Given the description of an element on the screen output the (x, y) to click on. 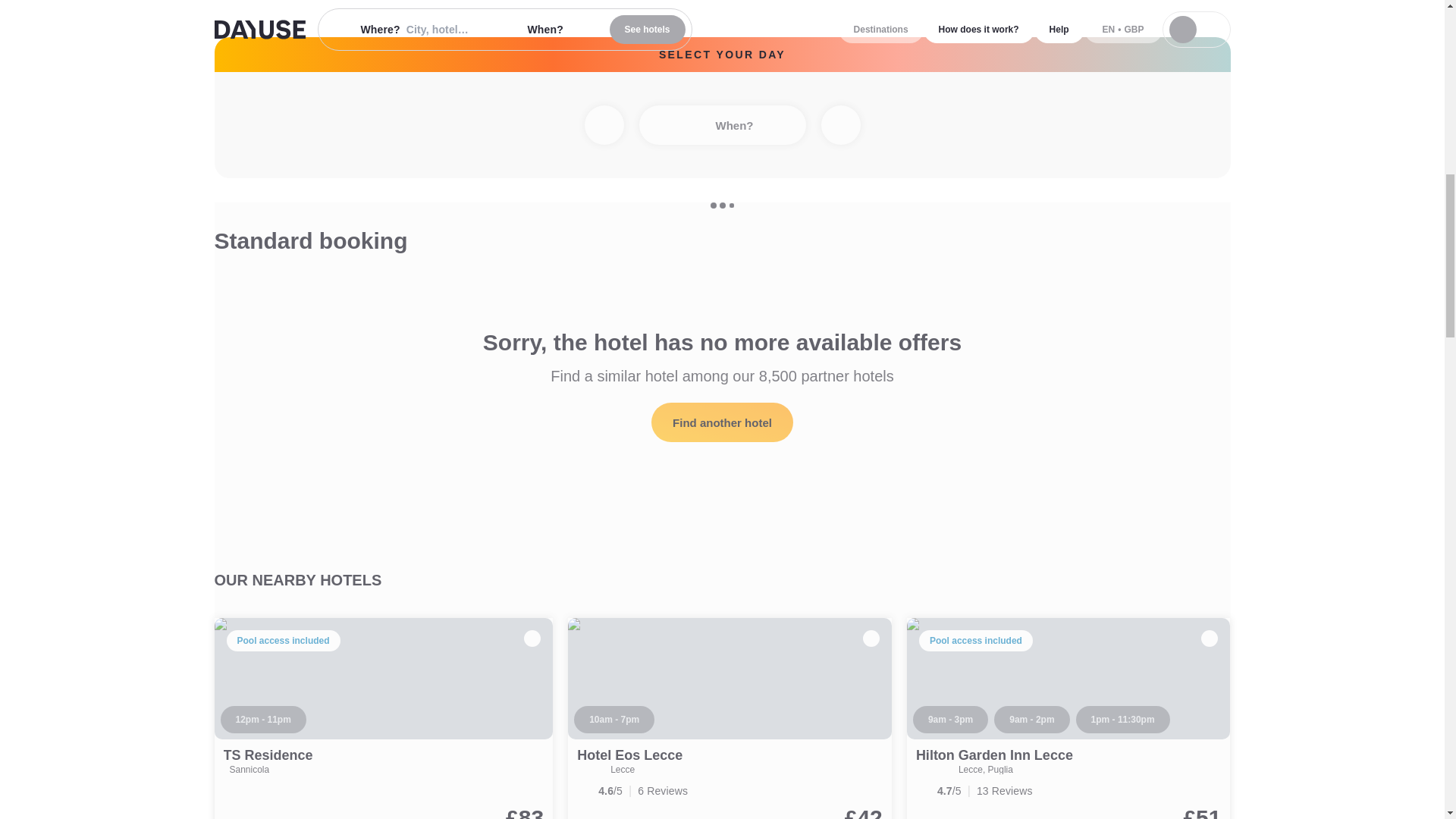
Hilton Garden Inn Lecce (994, 754)
TS Residence (383, 718)
Previous day (603, 124)
TS Residence (267, 754)
Find another hotel (721, 422)
When? (722, 124)
Next day (840, 124)
12pm - 11pm (262, 719)
Hotel Eos Lecce (629, 754)
TS Residence (267, 754)
